Given the description of an element on the screen output the (x, y) to click on. 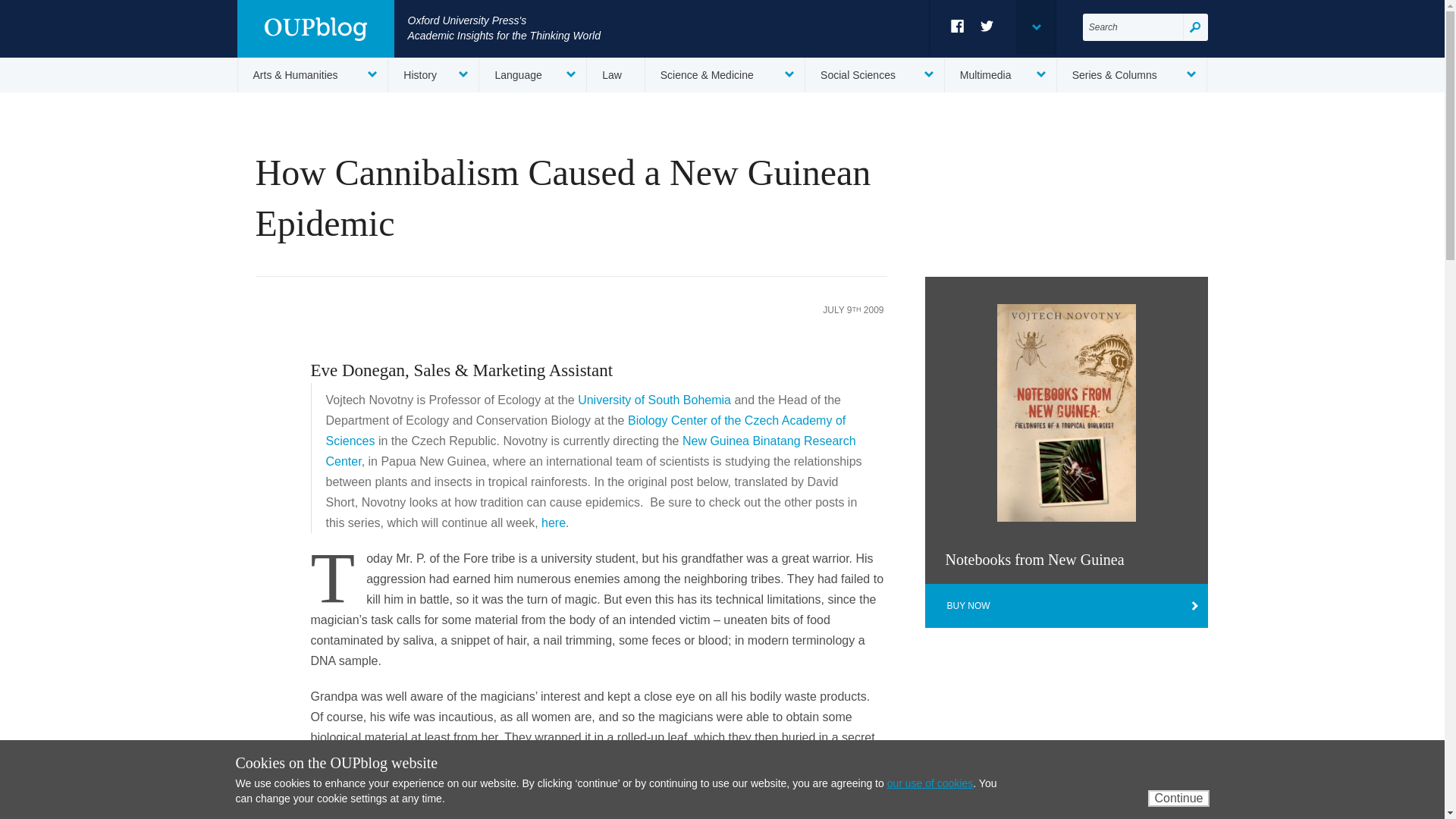
Facebook (957, 25)
Twitter (986, 25)
History (433, 74)
Search for: (1132, 26)
Language (532, 74)
Continue (1178, 798)
our use of cookies (930, 783)
Search (1195, 26)
